Given the description of an element on the screen output the (x, y) to click on. 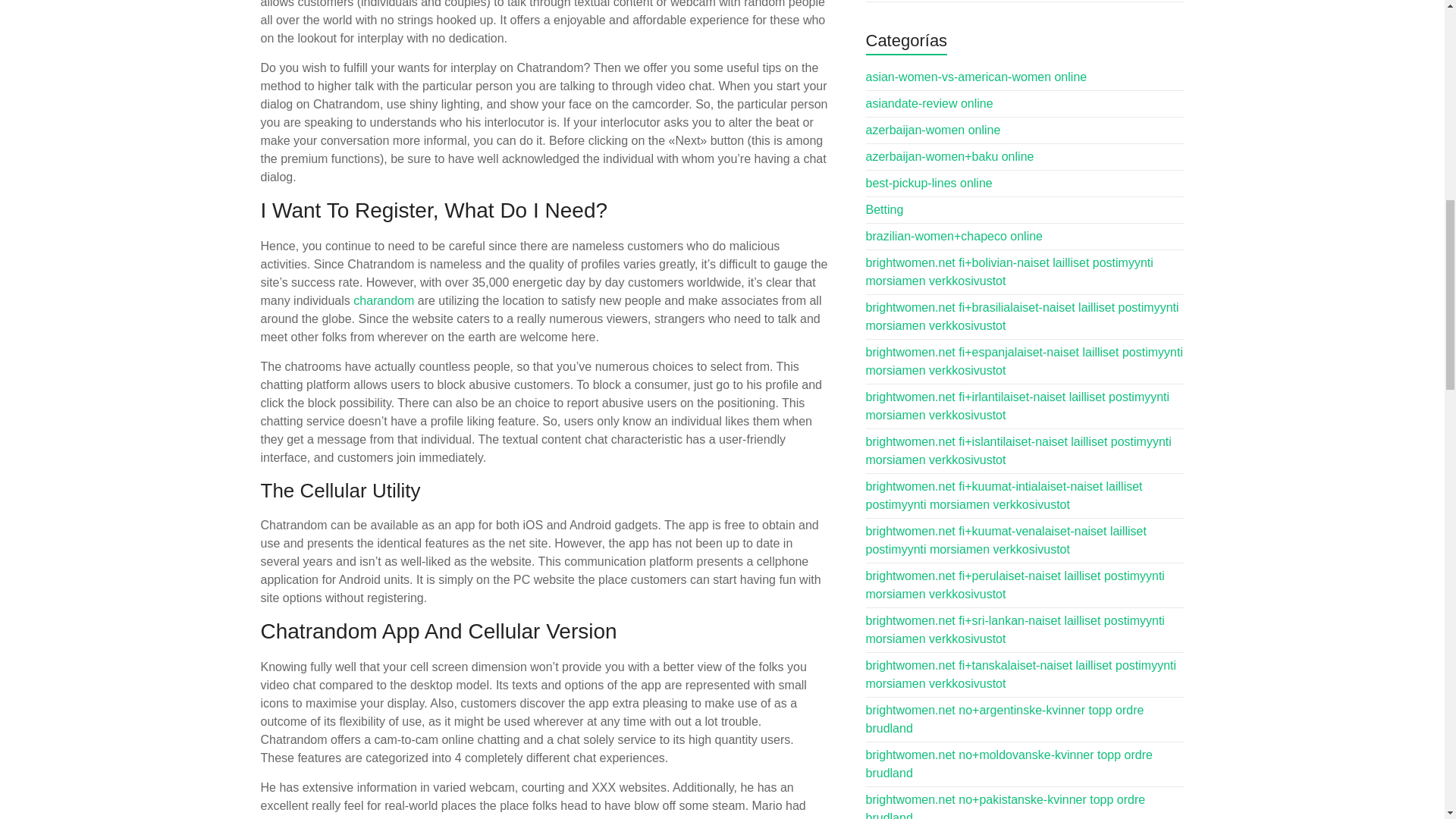
asiandate-review online (929, 103)
azerbaijan-women online (933, 129)
asian-women-vs-american-women online (976, 76)
best-pickup-lines online (929, 182)
charandom (383, 300)
